Given the description of an element on the screen output the (x, y) to click on. 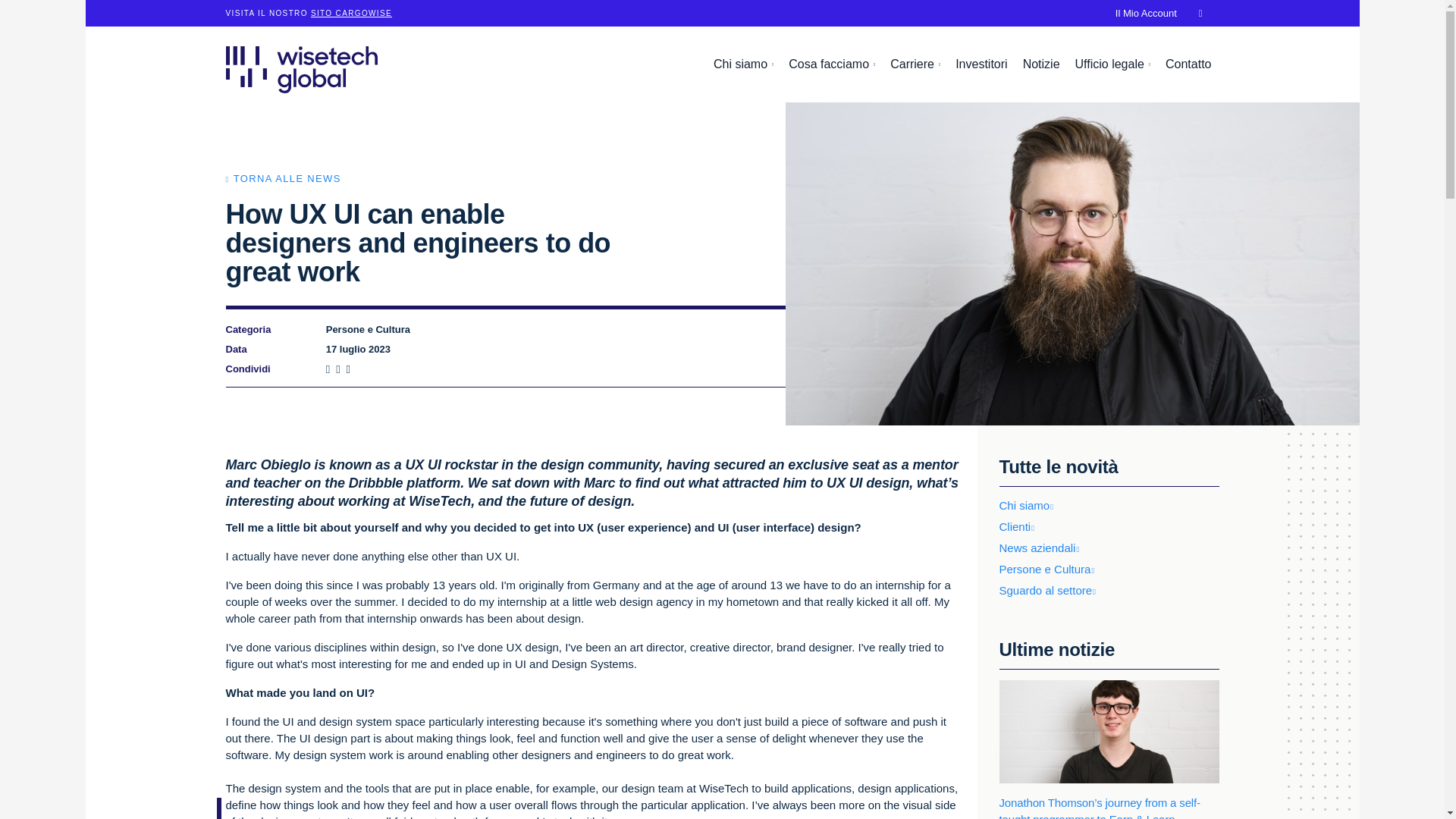
Chi siamo (743, 64)
Sguardo al settore (1050, 590)
Carriere (914, 64)
Contatto (1187, 63)
SITO CARGOWISE (351, 13)
Cosa facciamo (831, 64)
Notizie (1040, 63)
Clienti (1020, 526)
Chi siamo (1029, 504)
TORNA ALLE NEWS (282, 178)
Persone e Cultura (1050, 568)
CargoWise (351, 13)
